Given the description of an element on the screen output the (x, y) to click on. 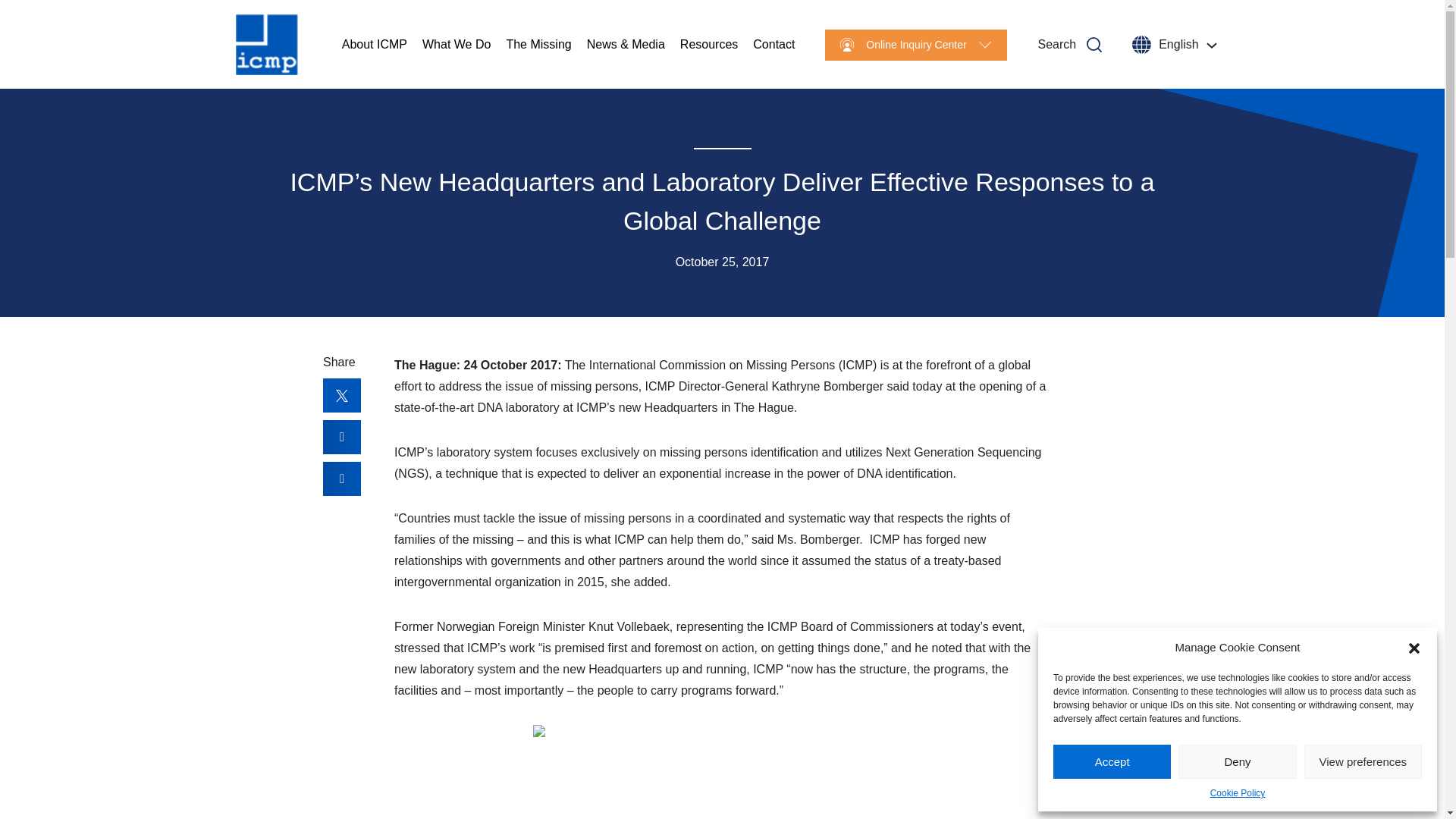
International Commission on Missing Persons (266, 44)
View preferences (1363, 761)
What We Do (456, 44)
Accept (1111, 761)
Deny (1236, 761)
Cookie Policy (1237, 793)
About ICMP (374, 44)
